Given the description of an element on the screen output the (x, y) to click on. 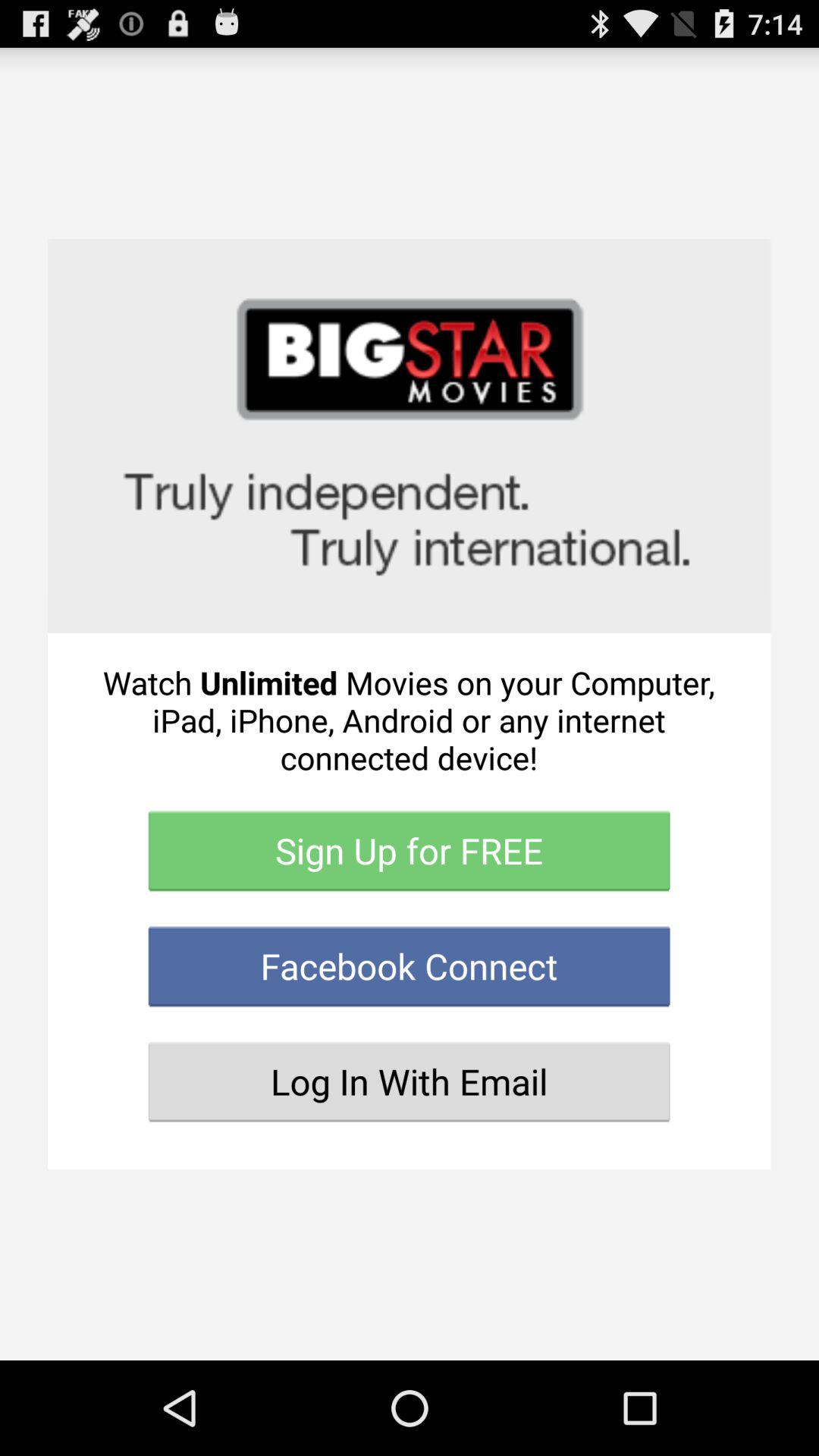
select log in with at the bottom (408, 1081)
